Given the description of an element on the screen output the (x, y) to click on. 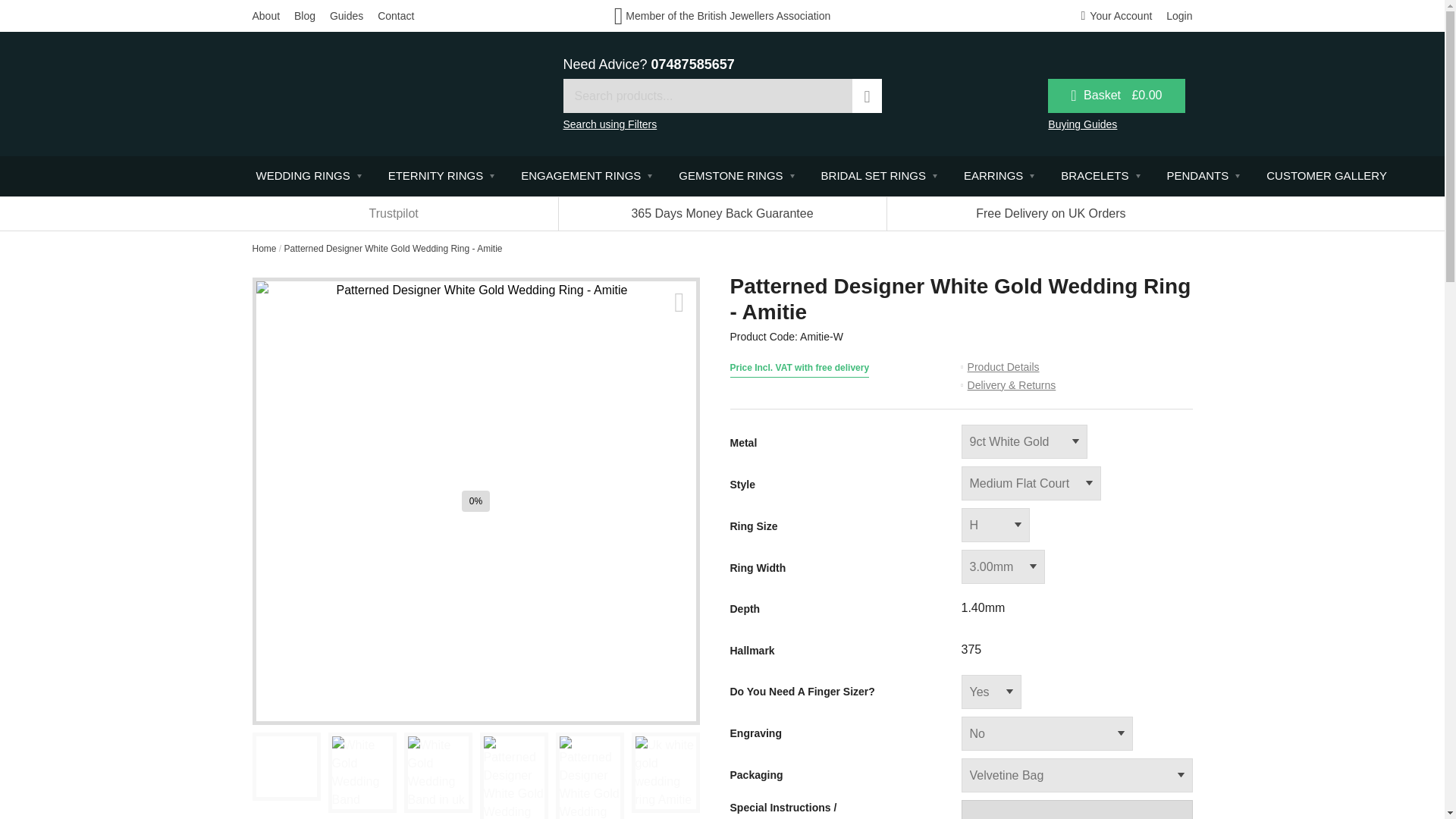
07487585657 (692, 64)
Member of the British Jewellers Association (722, 15)
The Beautiful Company (355, 93)
View Shopping Basket (1116, 95)
Your Account (1117, 15)
ETERNITY RINGS (439, 176)
ENGAGEMENT RINGS (584, 176)
Blog (304, 15)
Guides (346, 15)
Call our Team (692, 64)
